Given the description of an element on the screen output the (x, y) to click on. 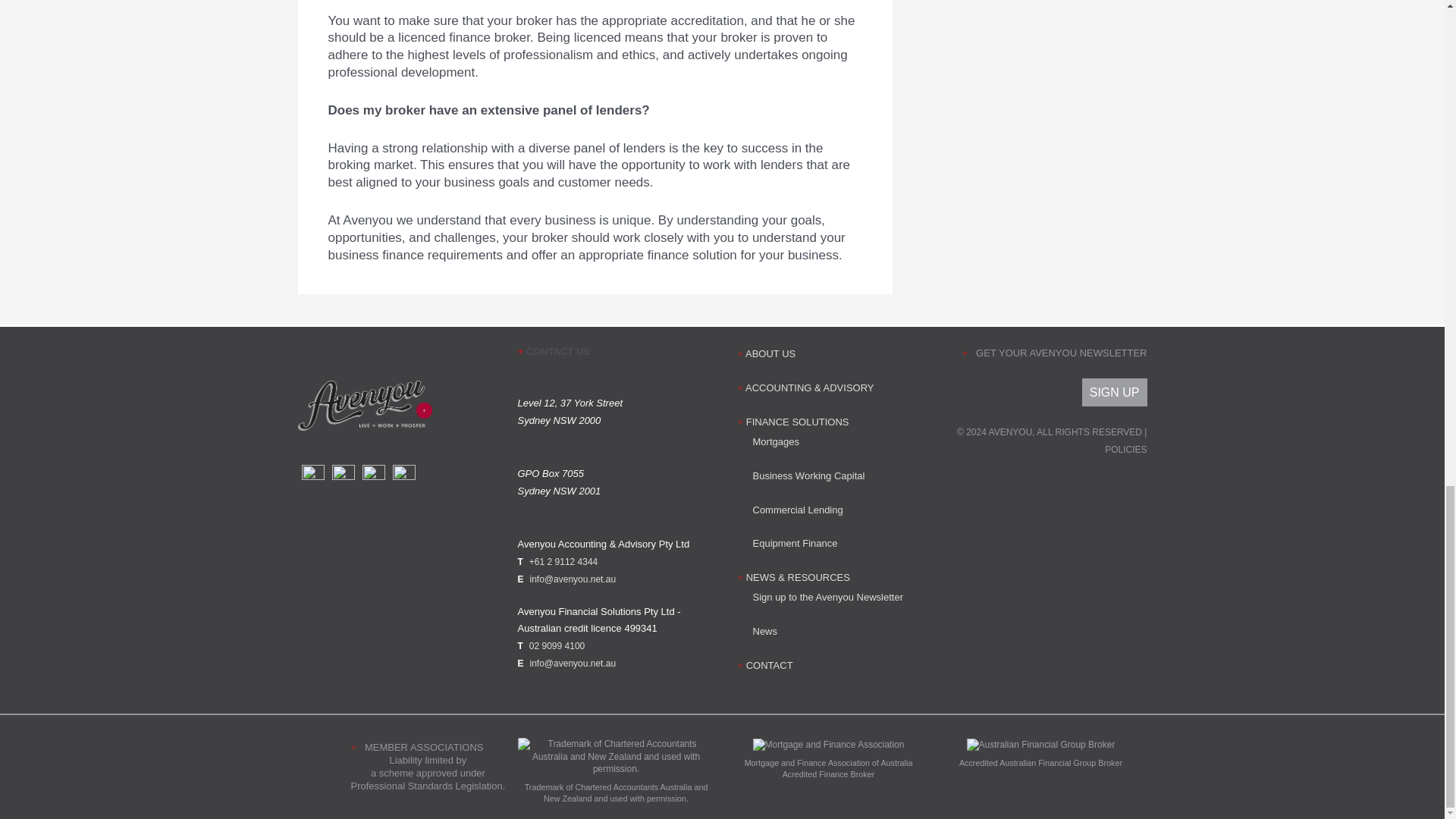
Commercial Lending (797, 509)
Business Working Capital (808, 475)
Equipment Finance (794, 542)
Mortgages (774, 441)
02 9099 4100 (557, 645)
